Given the description of an element on the screen output the (x, y) to click on. 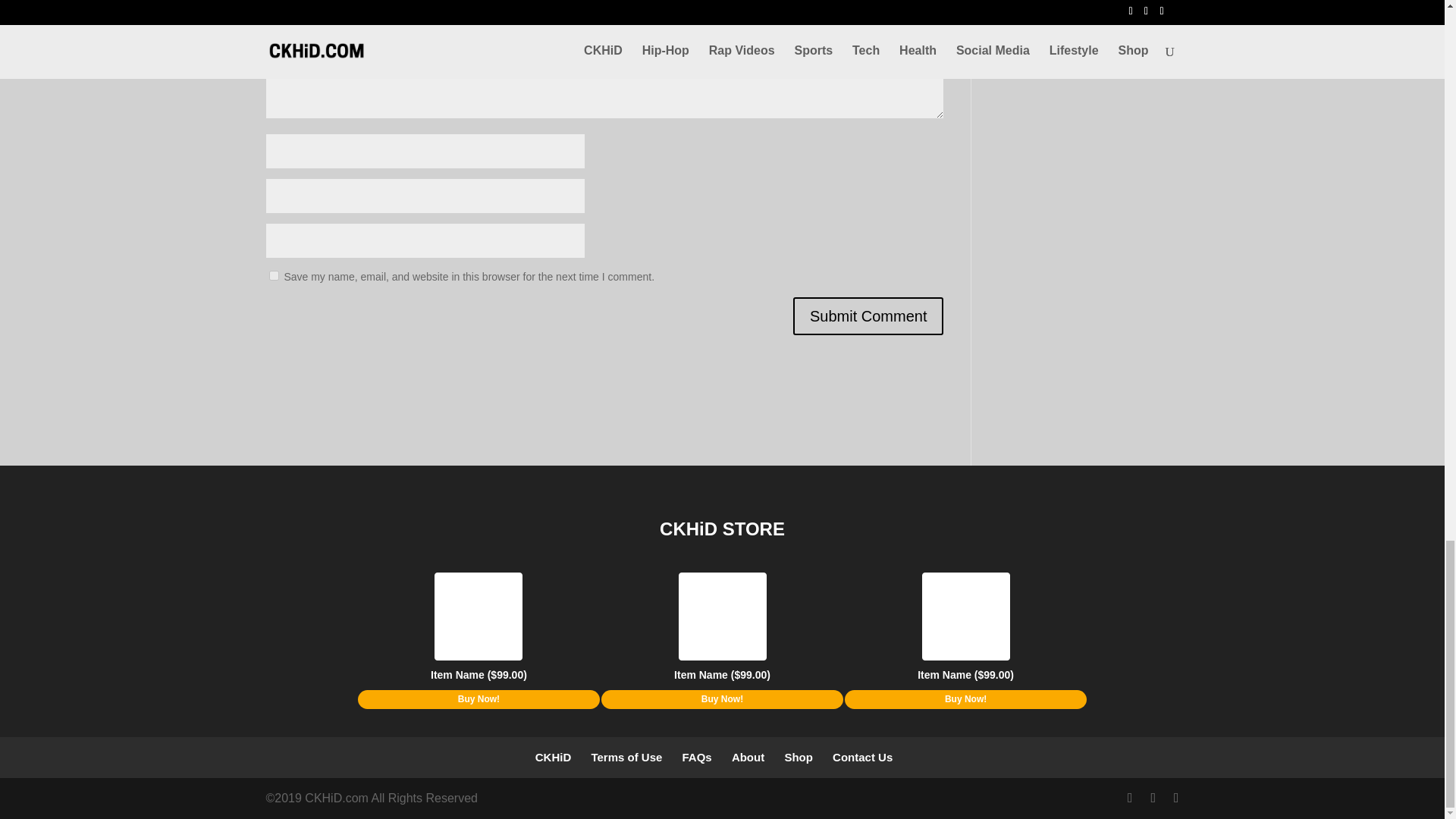
yes (272, 275)
Submit Comment (868, 315)
Submit Comment (868, 315)
